Given the description of an element on the screen output the (x, y) to click on. 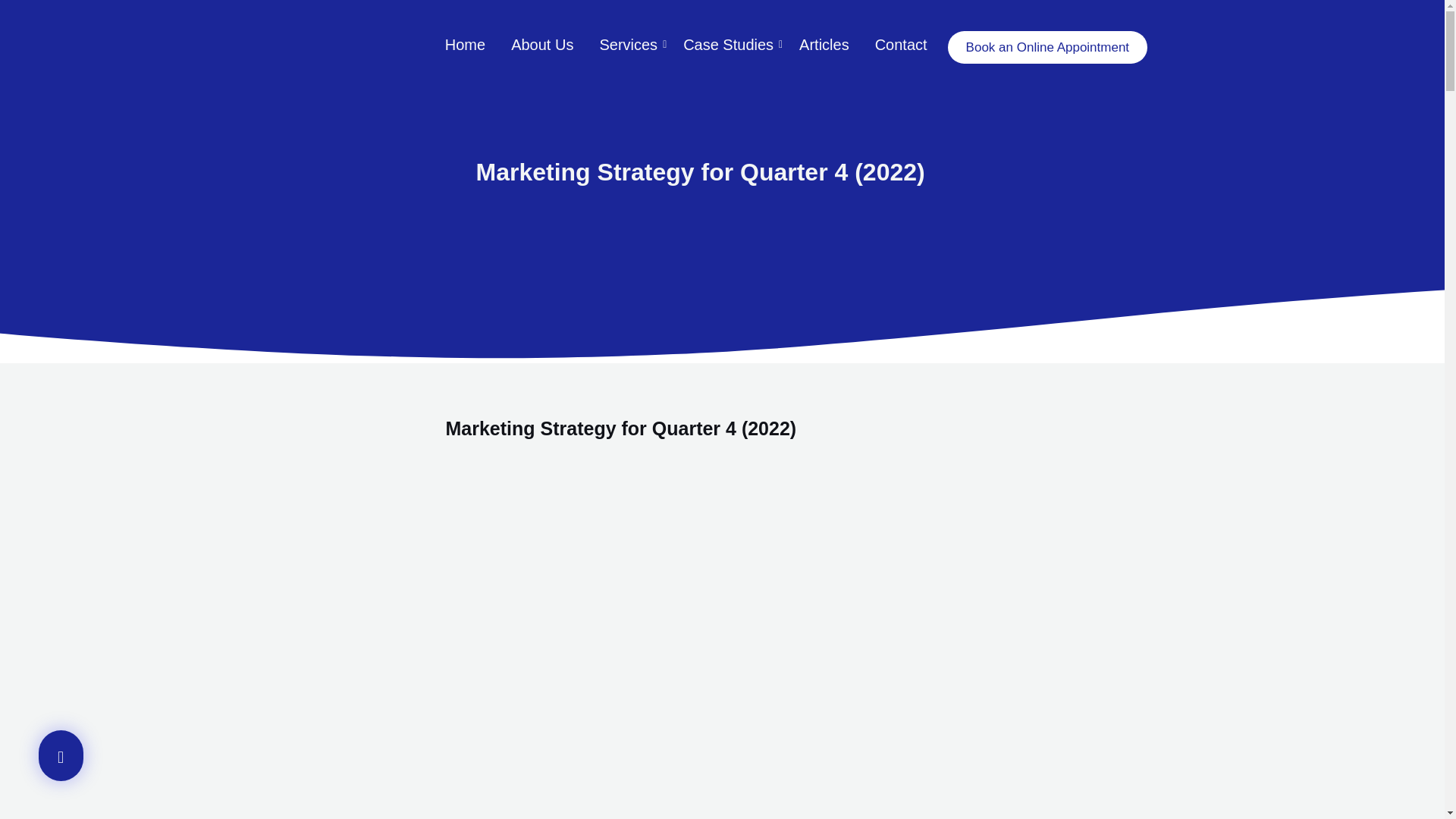
Home (464, 45)
Case Studies (728, 45)
Book an Online Appointment (1047, 47)
Articles (823, 45)
Contact (901, 45)
Services (628, 45)
About Us (541, 45)
